Given the description of an element on the screen output the (x, y) to click on. 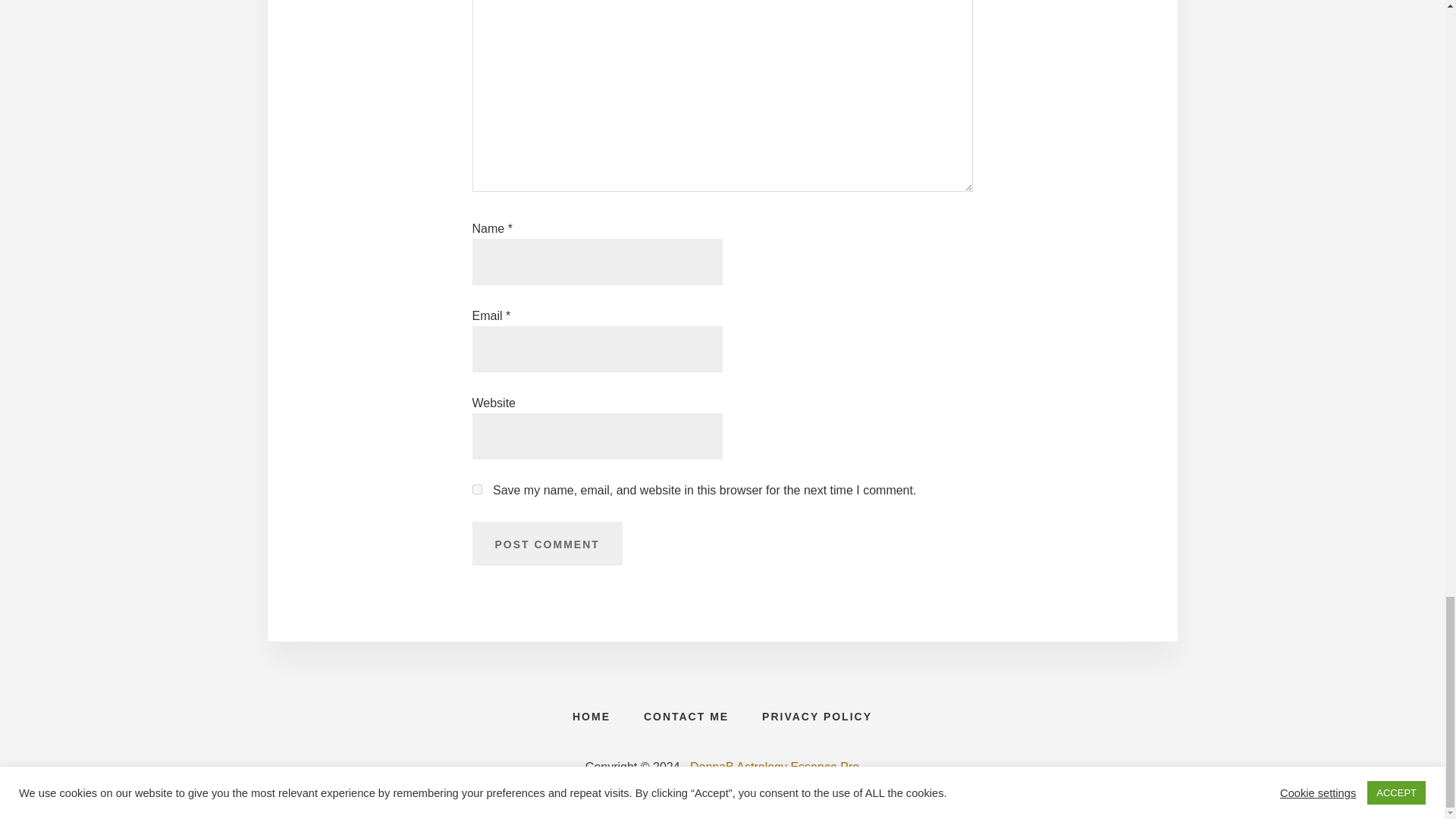
PRIVACY POLICY (816, 716)
HOME (591, 716)
yes (476, 489)
CONTACT ME (686, 716)
Post Comment (546, 543)
DonnaB Astrology Essence Pro (774, 766)
Post Comment (546, 543)
